Given the description of an element on the screen output the (x, y) to click on. 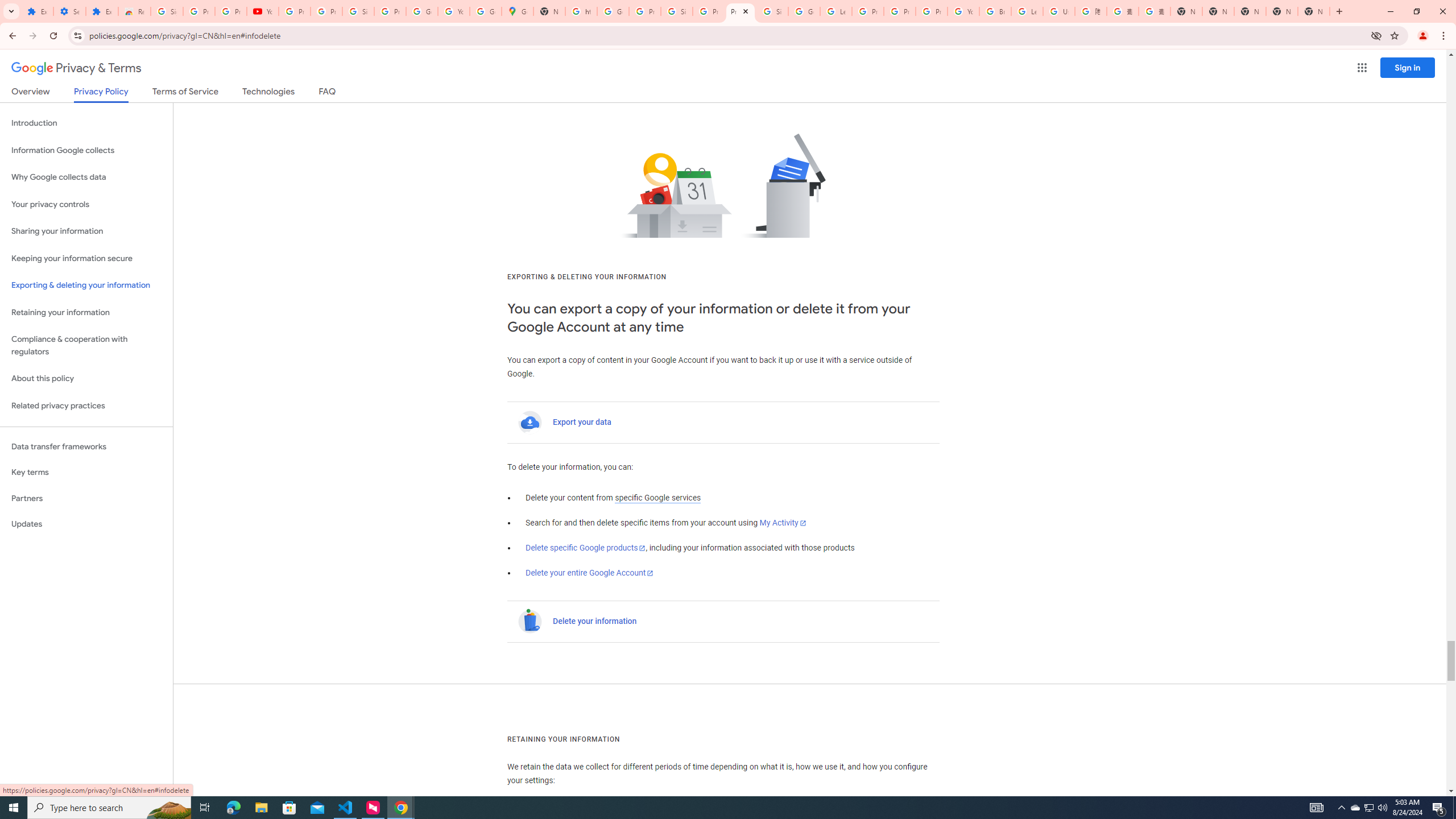
YouTube (963, 11)
Sign in - Google Accounts (772, 11)
New Tab (1313, 11)
Compliance & cooperation with regulators (86, 345)
Exporting & deleting your information (86, 284)
Delete your information (595, 621)
Information Google collects (86, 150)
